Given the description of an element on the screen output the (x, y) to click on. 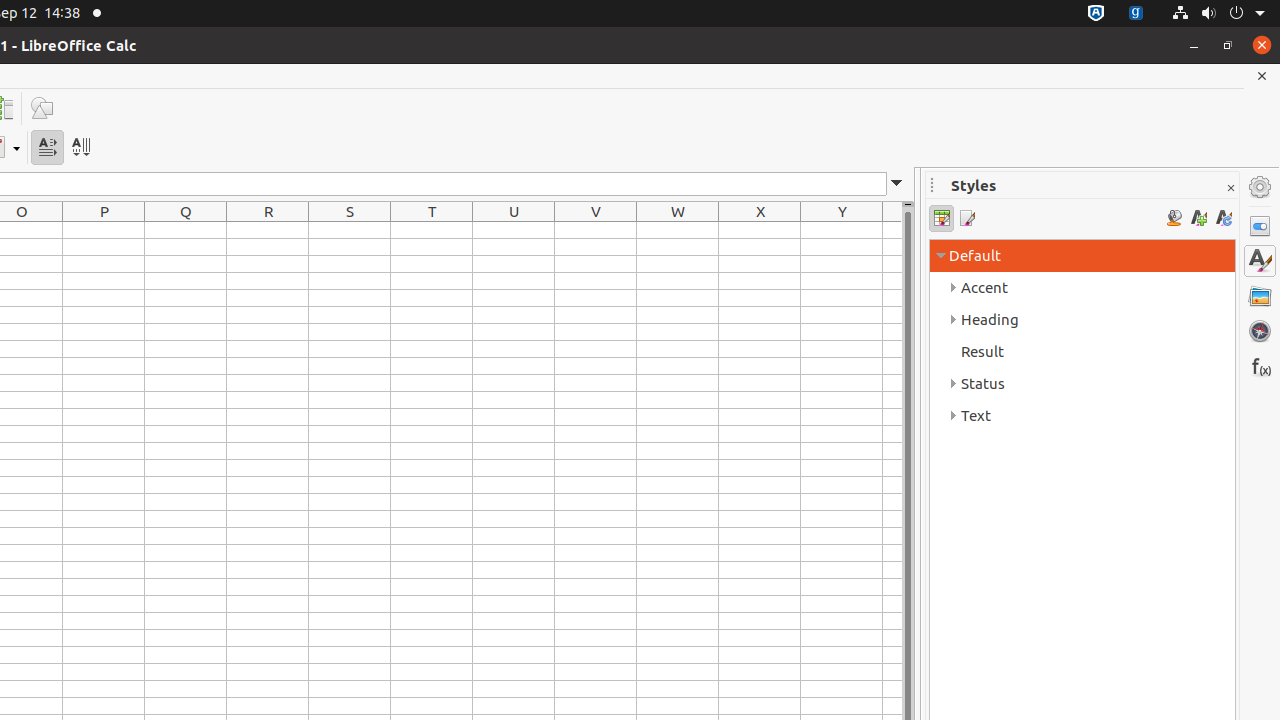
T1 Element type: table-cell (432, 230)
System Element type: menu (1218, 13)
Text direction from left to right Element type: toggle-button (47, 147)
:1.72/StatusNotifierItem Element type: menu (1096, 13)
Page Styles Element type: push-button (966, 218)
